Given the description of an element on the screen output the (x, y) to click on. 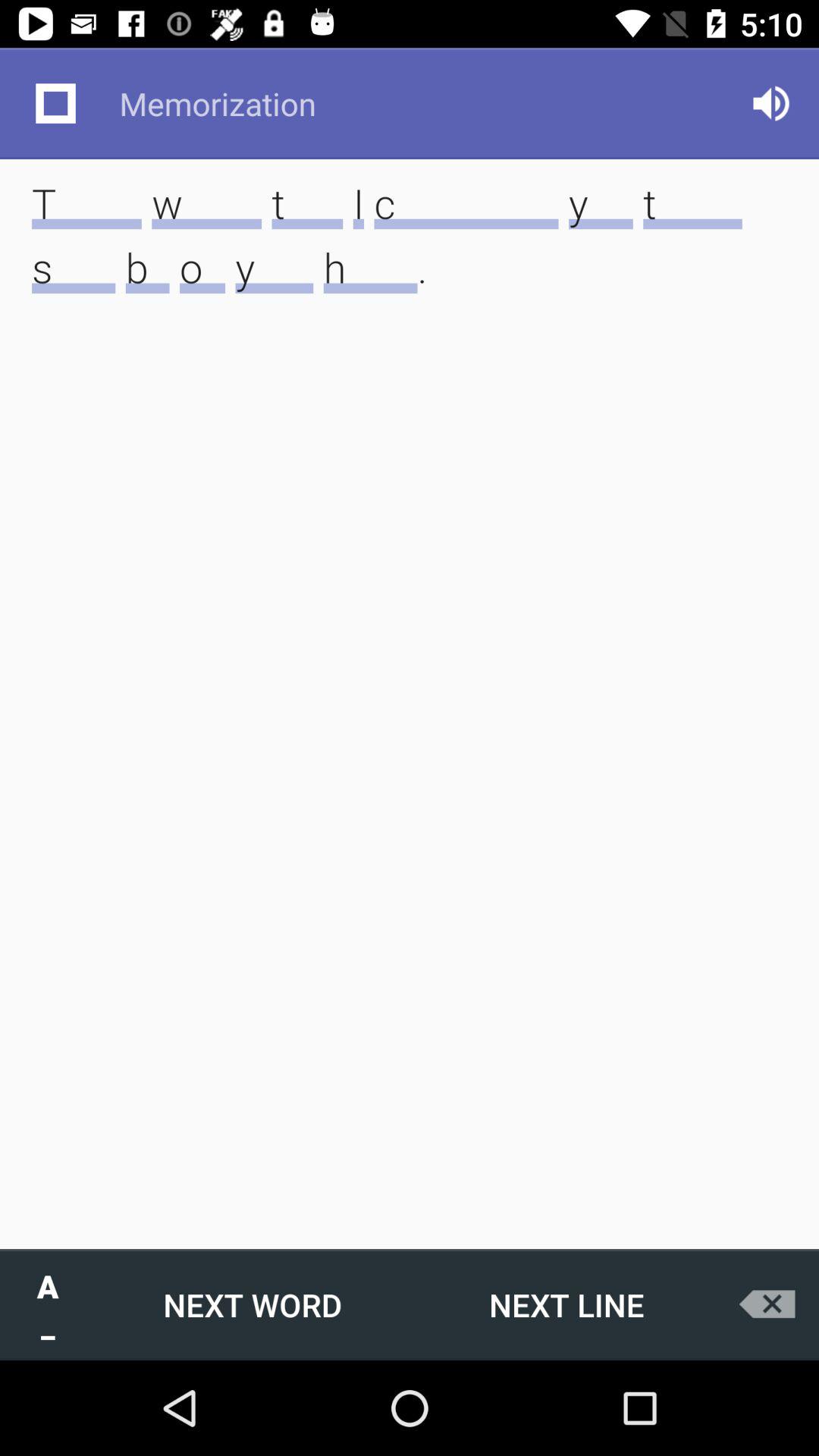
choose icon to the right of the next line (771, 1304)
